Given the description of an element on the screen output the (x, y) to click on. 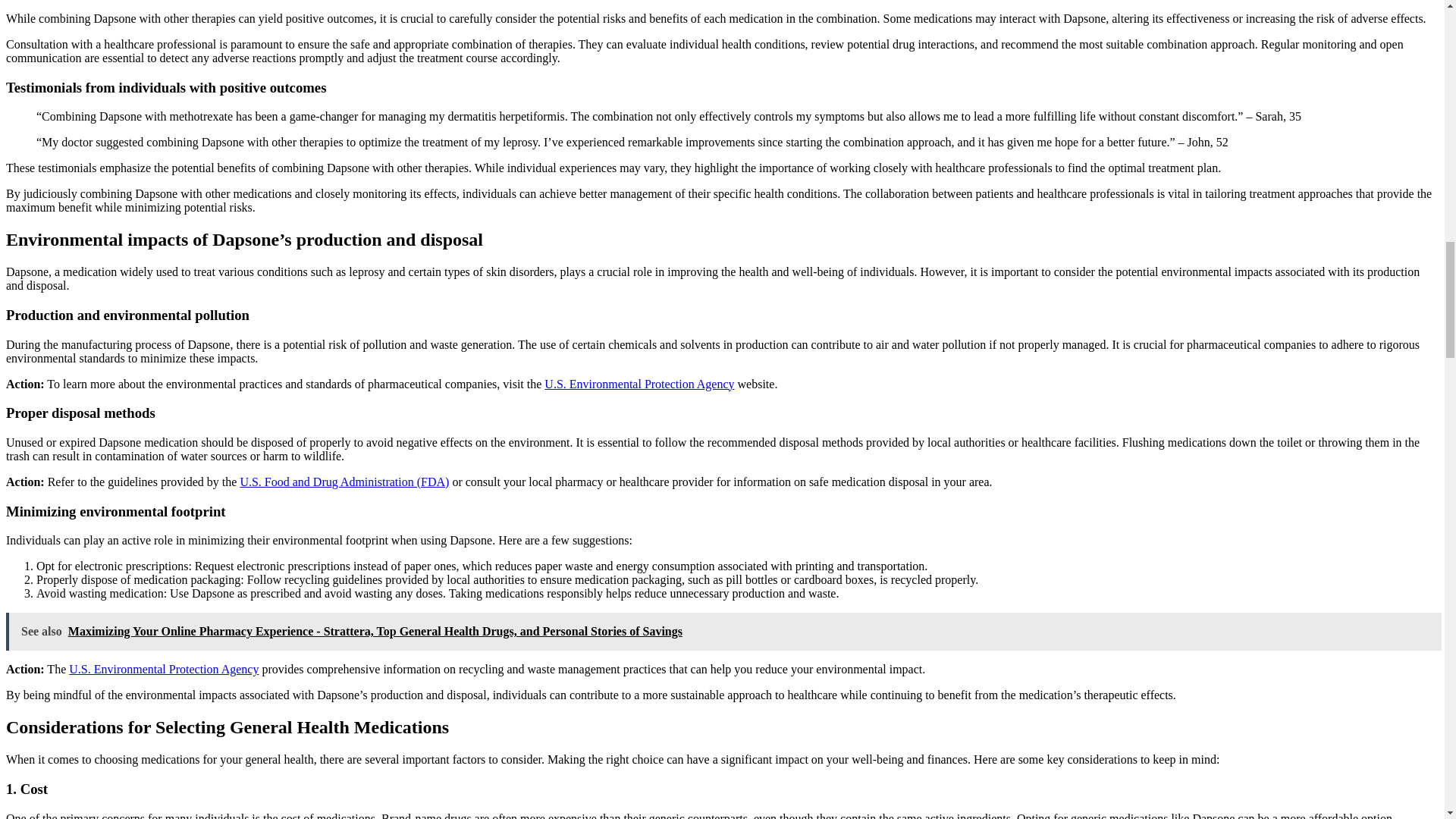
U.S. Environmental Protection Agency (638, 383)
U.S. Environmental Protection Agency (163, 668)
